Given the description of an element on the screen output the (x, y) to click on. 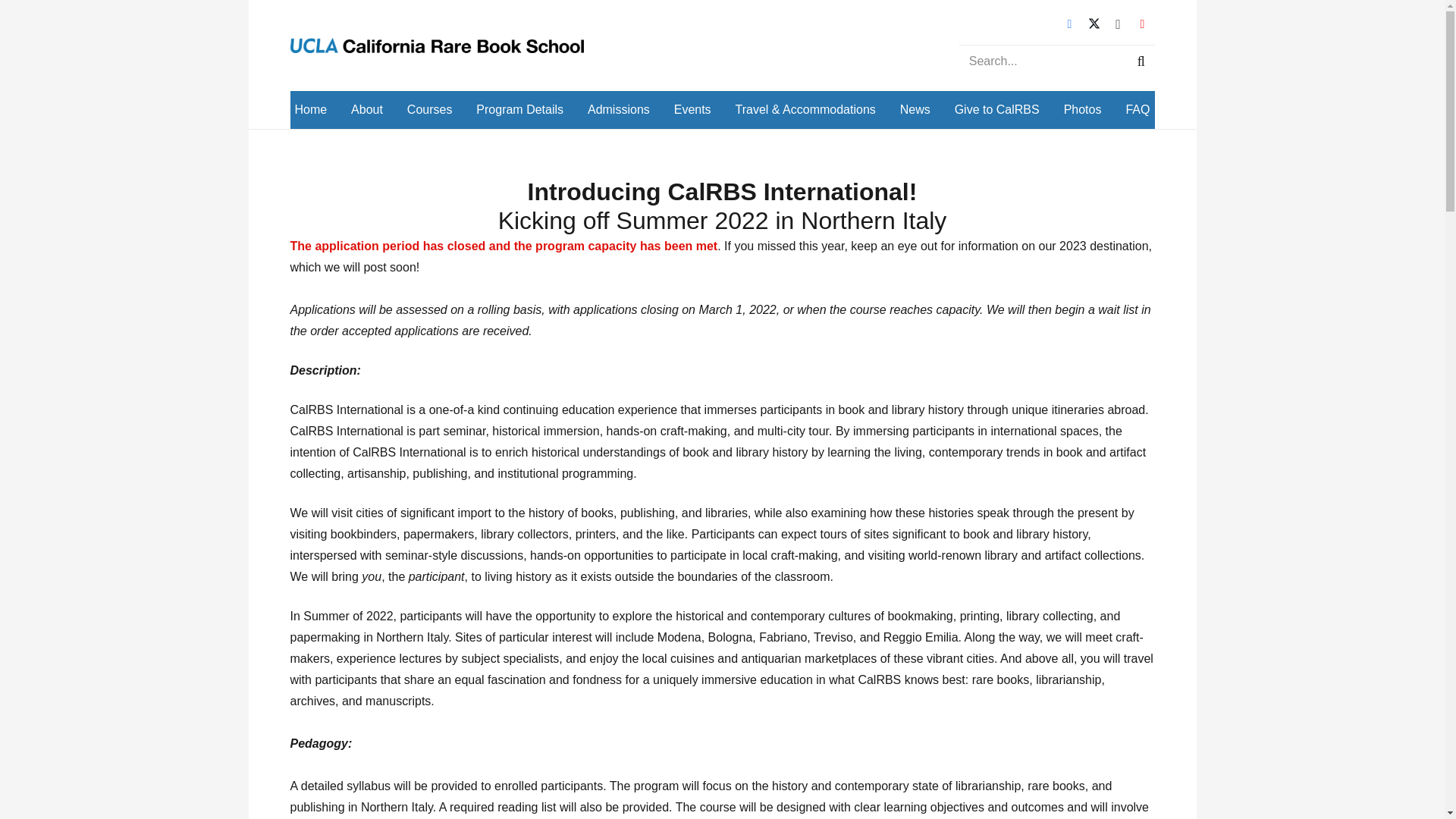
Events (692, 109)
Admissions (618, 109)
Home (310, 109)
Courses (430, 109)
Twitter (1093, 24)
Program Details (519, 109)
YouTube (1141, 24)
About (366, 109)
Facebook (1069, 24)
Instagram (1117, 24)
